Given the description of an element on the screen output the (x, y) to click on. 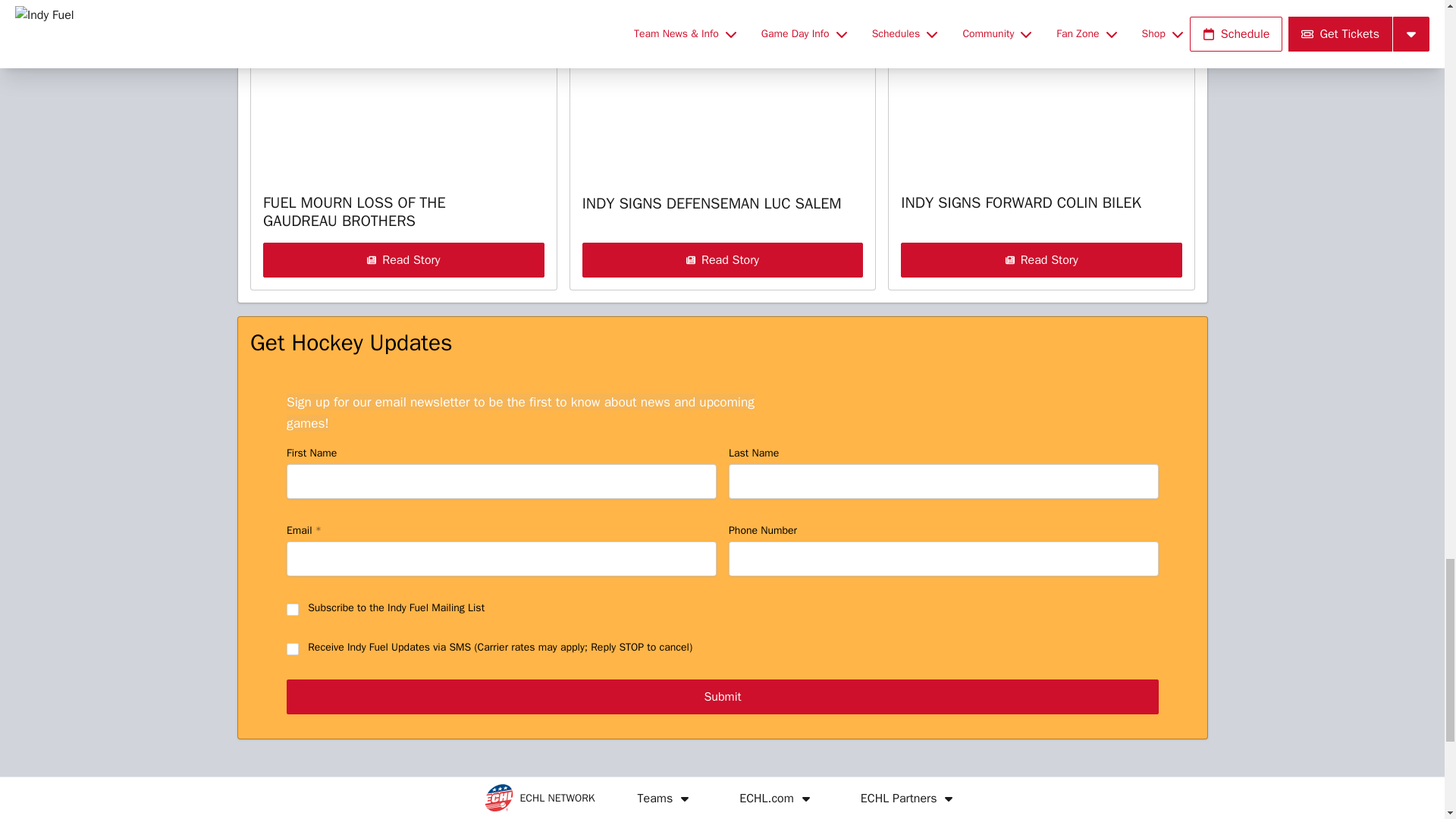
on (292, 609)
on (292, 648)
